Given the description of an element on the screen output the (x, y) to click on. 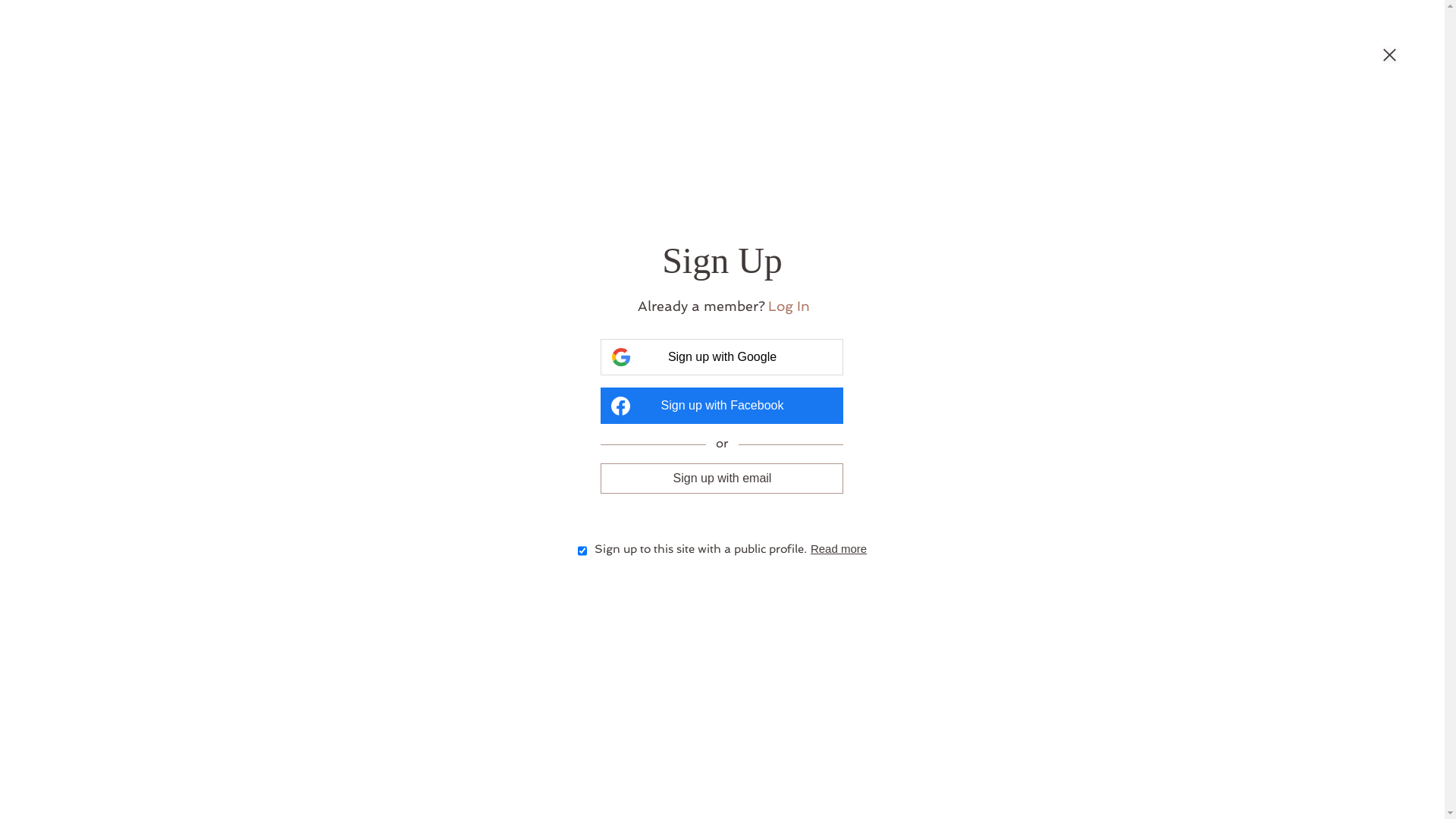
Log In Element type: text (784, 305)
Sign up with Facebook Element type: text (721, 405)
Sign up with email Element type: text (721, 478)
Sign up with Google Element type: text (721, 356)
Read more Element type: text (830, 548)
